Given the description of an element on the screen output the (x, y) to click on. 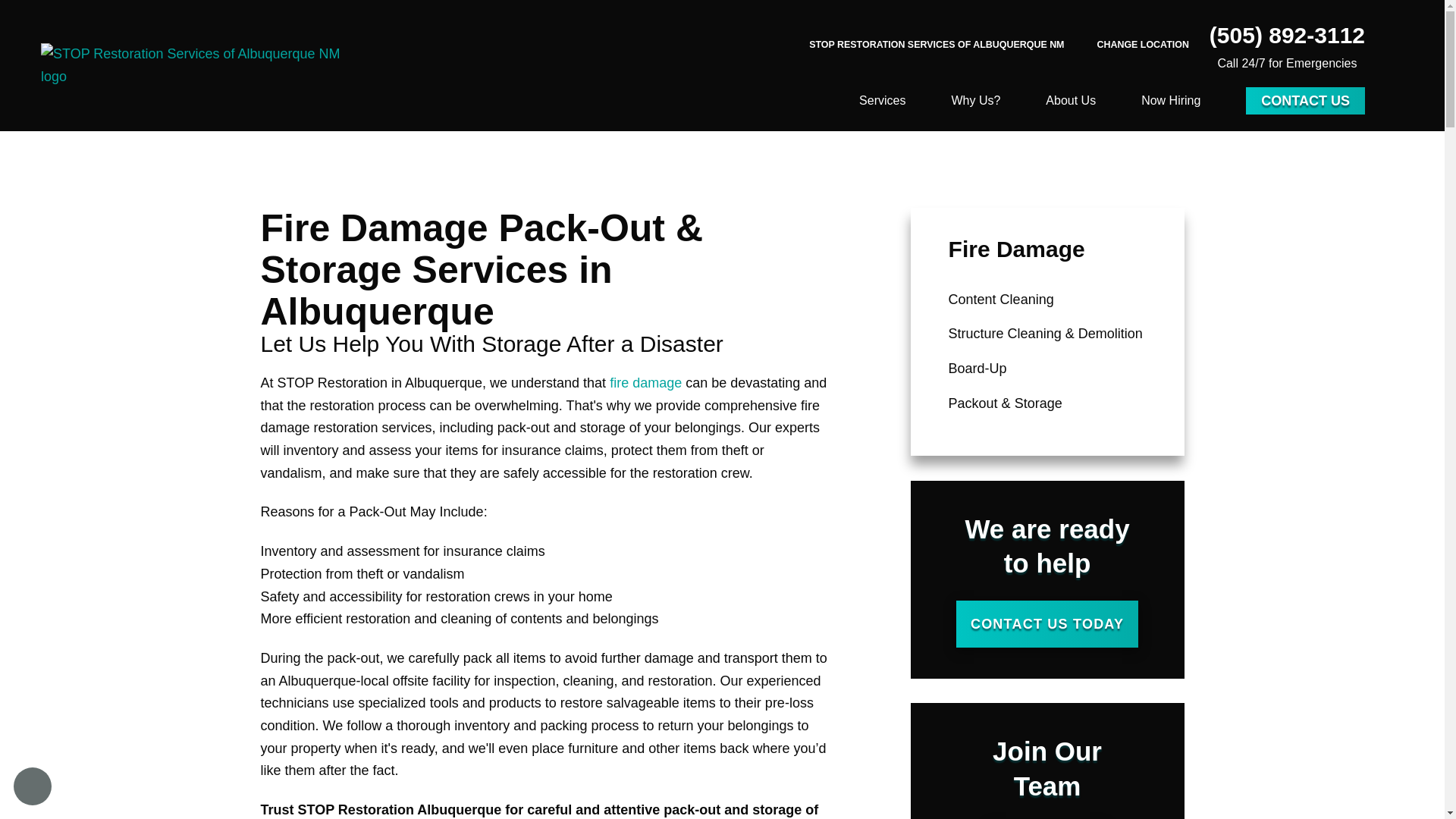
CHANGE LOCATION (1142, 45)
STOP RESTORATION SERVICES OF ALBUQUERQUE NM (936, 44)
CONTACT US (1305, 100)
Why Us? (975, 100)
Services (882, 100)
About Us (1070, 100)
Open the accessibility options menu (31, 786)
STOP Restoration (193, 65)
Now Hiring (1170, 100)
